Given the description of an element on the screen output the (x, y) to click on. 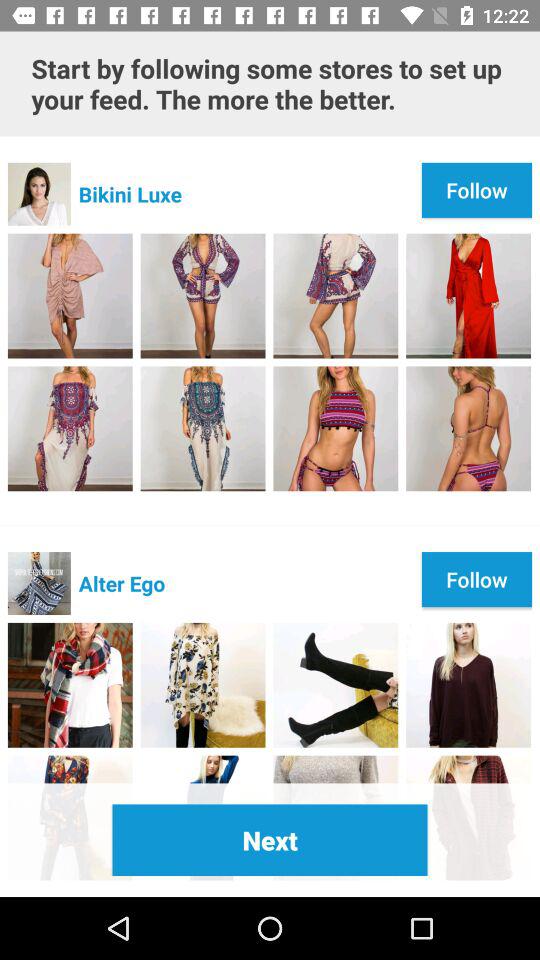
scroll until the next item (269, 840)
